Given the description of an element on the screen output the (x, y) to click on. 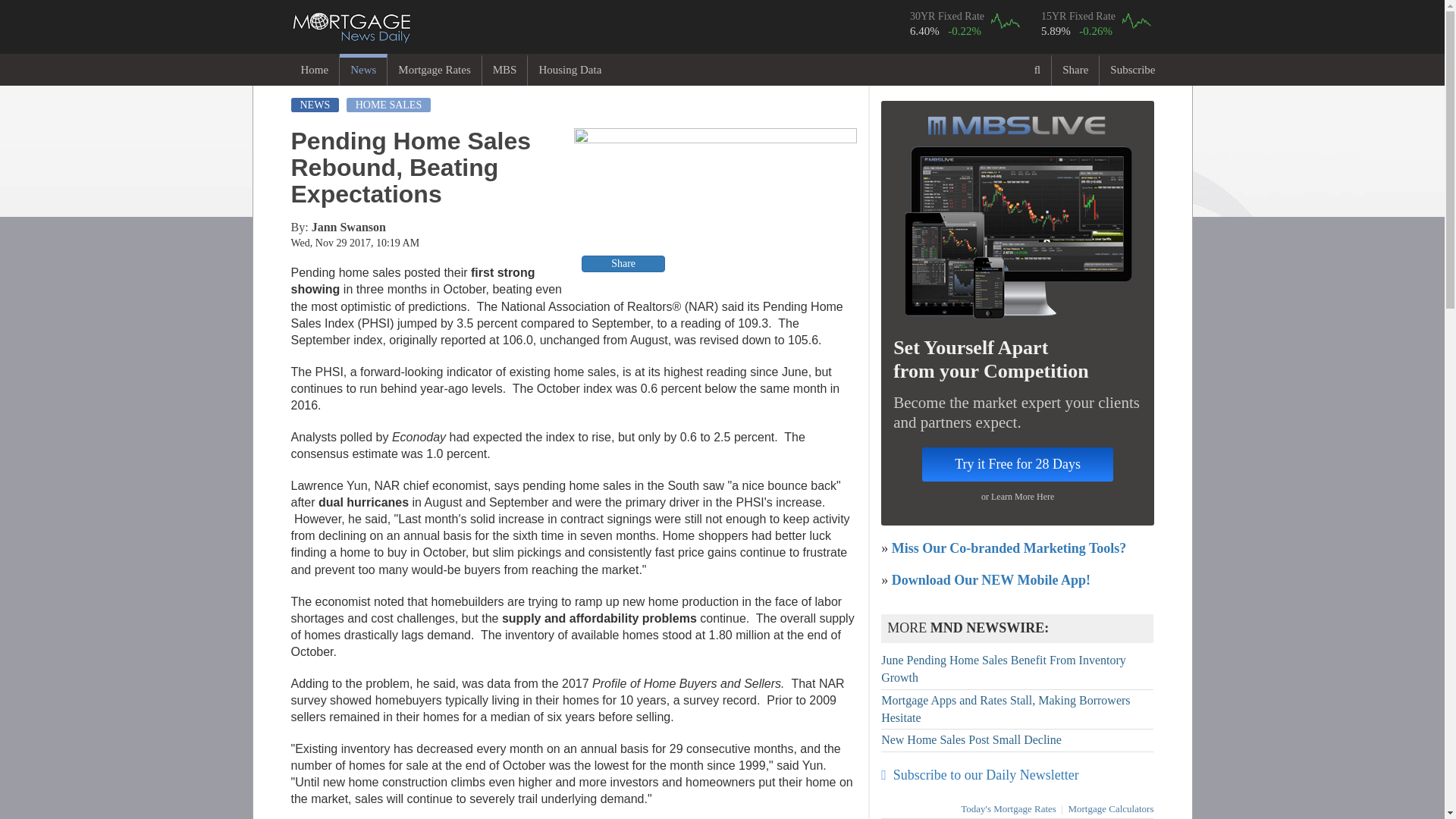
News (363, 69)
Home (314, 69)
Preview (715, 201)
Mortgage Rates (434, 69)
